Given the description of an element on the screen output the (x, y) to click on. 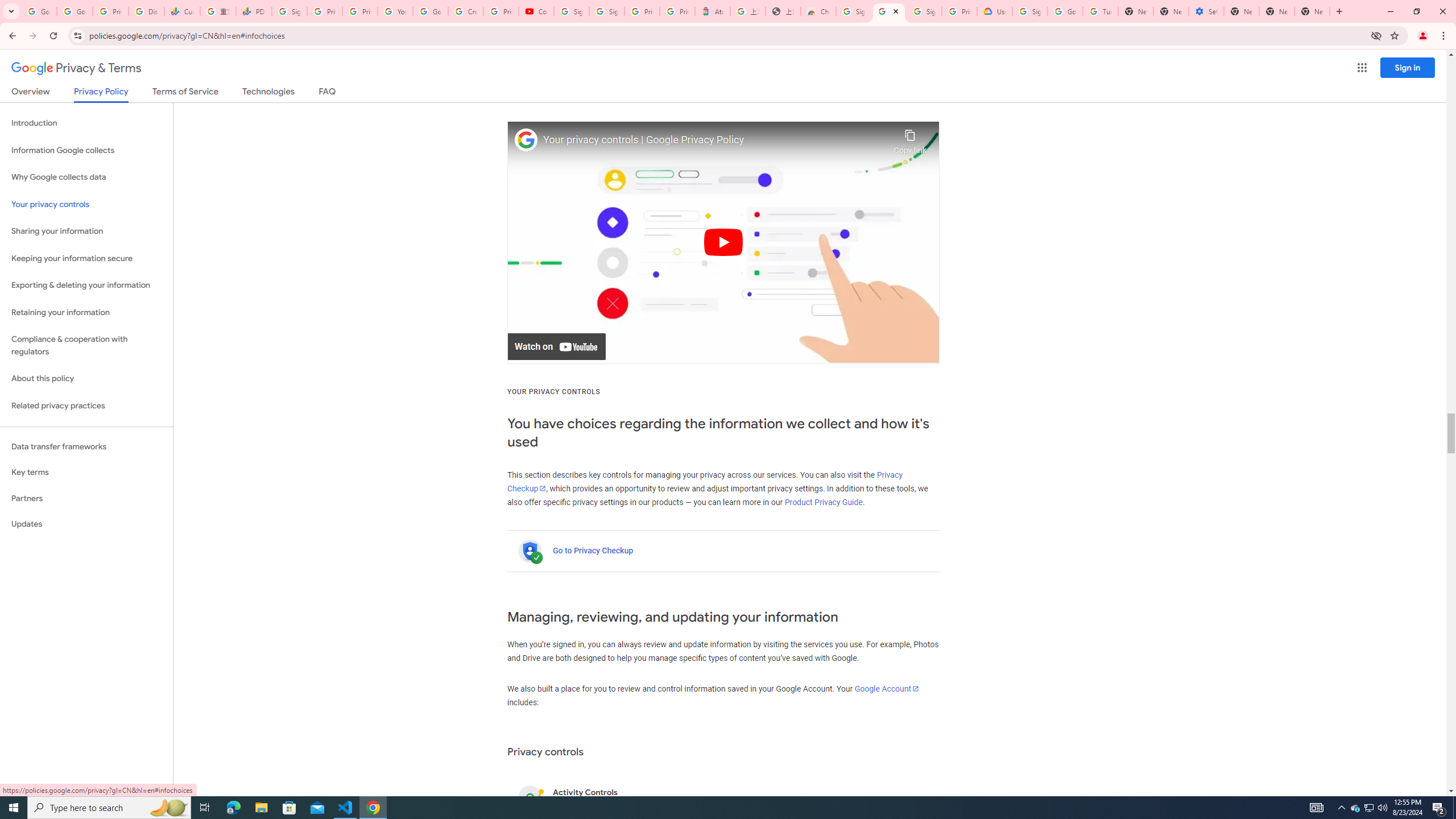
Google Account Help (1064, 11)
Privacy Checkup (359, 11)
Google Workspace Admin Community (39, 11)
YouTube (394, 11)
Copy link (909, 139)
Play (723, 242)
Retaining your information (86, 312)
PDD Holdings Inc - ADR (PDD) Price & News - Google Finance (253, 11)
Sign in - Google Accounts (605, 11)
Privacy Checkup (704, 481)
